Given the description of an element on the screen output the (x, y) to click on. 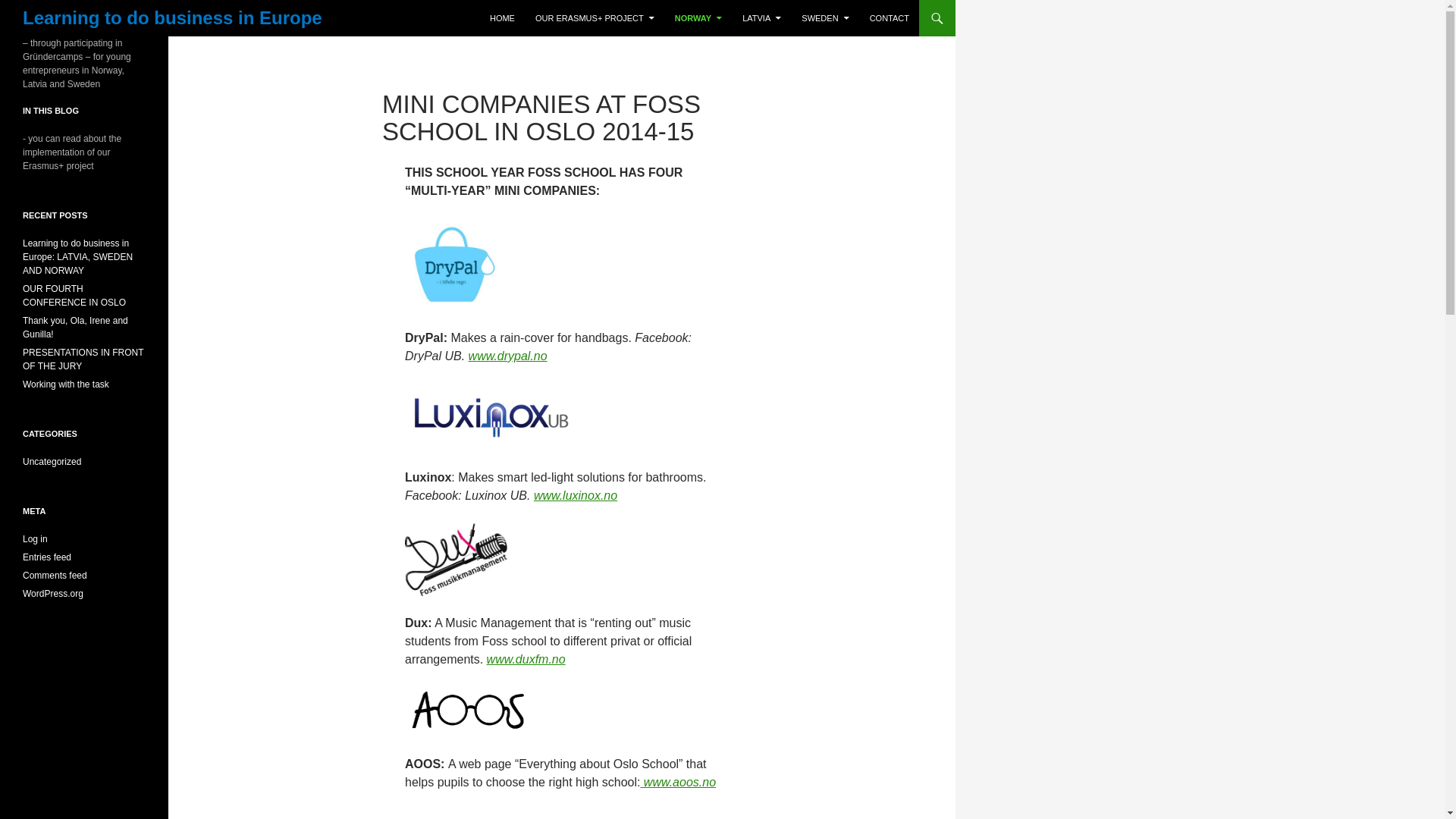
SWEDEN (824, 18)
www.luxinox.no (575, 495)
Drypal (512, 355)
Learning to do business in Europe (172, 18)
www.aoos.no (678, 781)
ww.drypal.no (512, 355)
Learning to do business in Europe: LATVIA, SWEDEN AND NORWAY (77, 257)
www.duxfm.no (526, 658)
Luxinox (575, 495)
OUR FOURTH CONFERENCE IN OSLO (74, 295)
AOOS (678, 781)
NORWAY (697, 18)
HOME (502, 18)
Dux (526, 658)
CONTACT (889, 18)
